Given the description of an element on the screen output the (x, y) to click on. 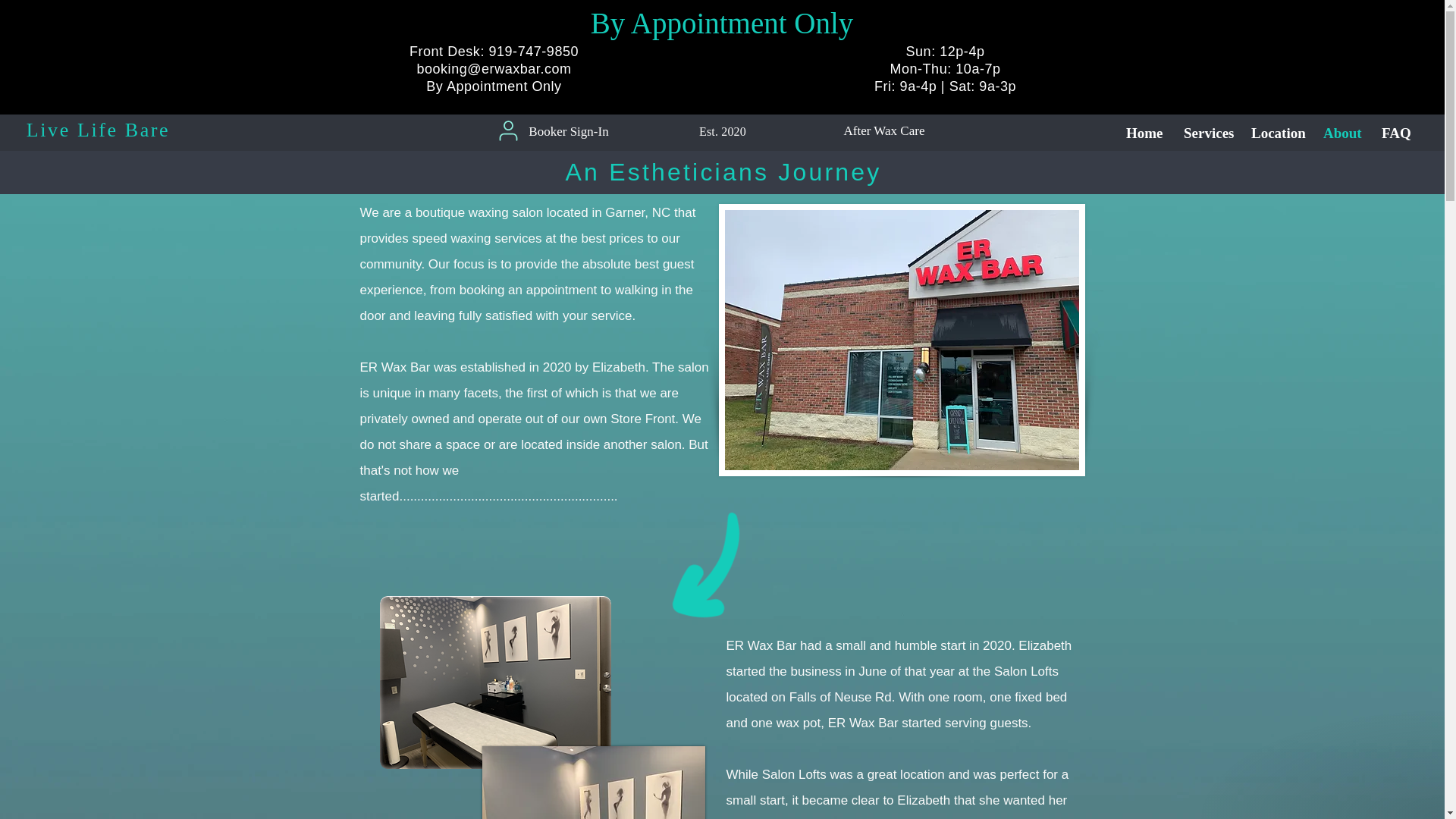
Sun: 12p-4p (944, 51)
FAQ (1396, 132)
Live Life Bare (98, 129)
Home (1143, 132)
After Wax Care (884, 130)
Location (1275, 132)
About (1340, 132)
Services (1206, 132)
Booker Sign-In (568, 131)
